Given the description of an element on the screen output the (x, y) to click on. 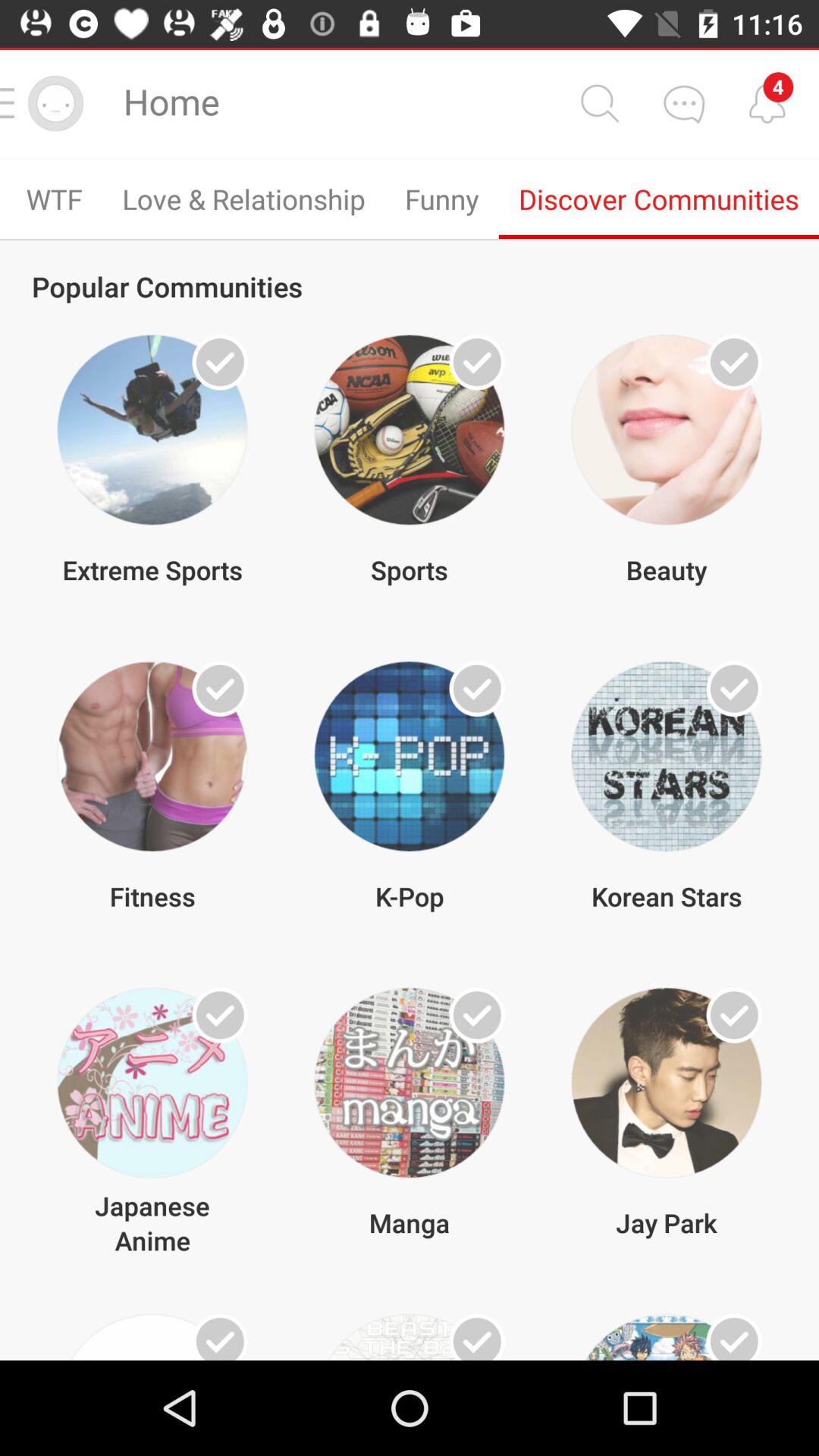
check box for fitness (219, 688)
